Given the description of an element on the screen output the (x, y) to click on. 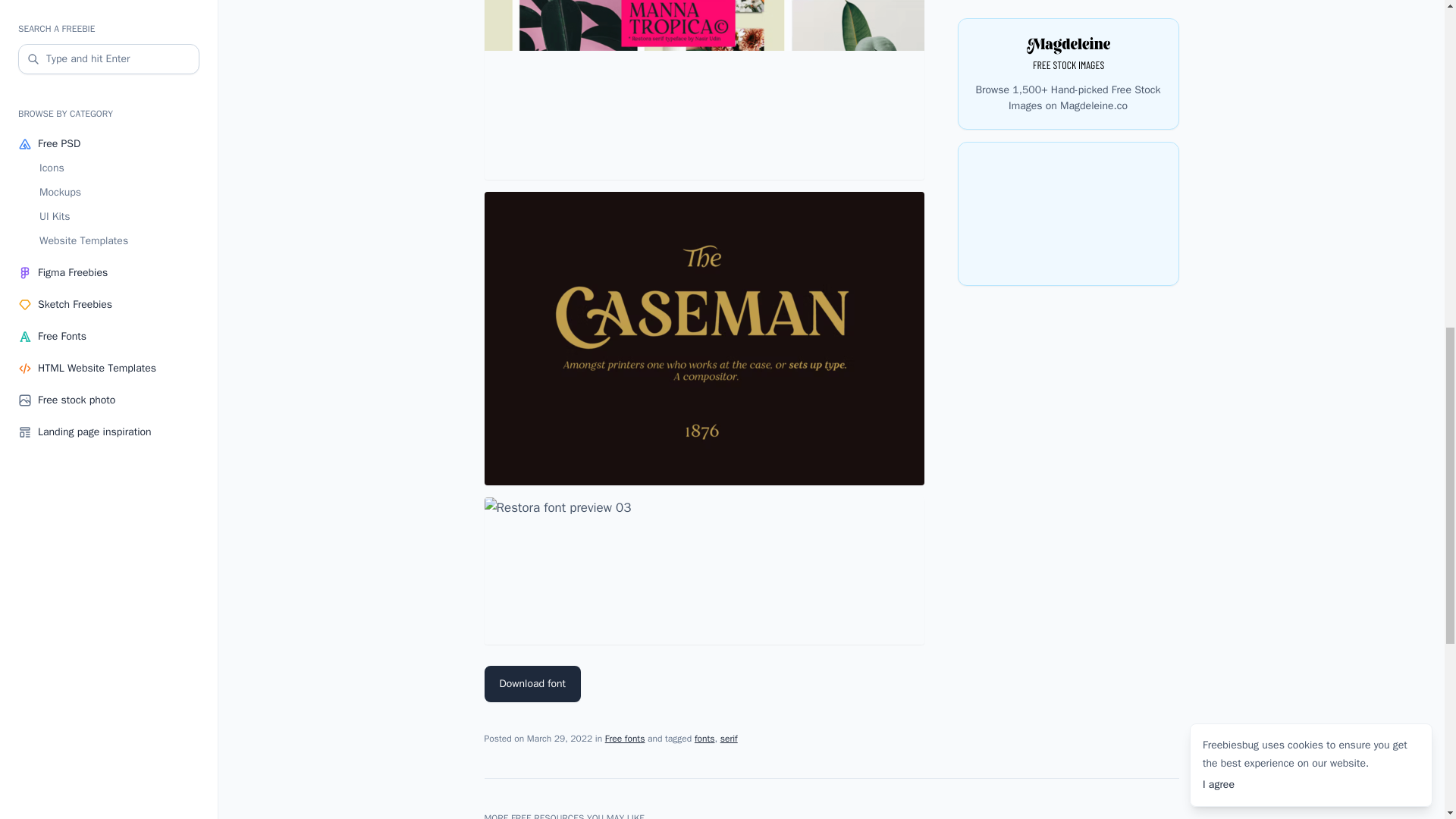
Free fonts (625, 738)
serif (729, 738)
fonts (704, 738)
Download font (531, 683)
